Given the description of an element on the screen output the (x, y) to click on. 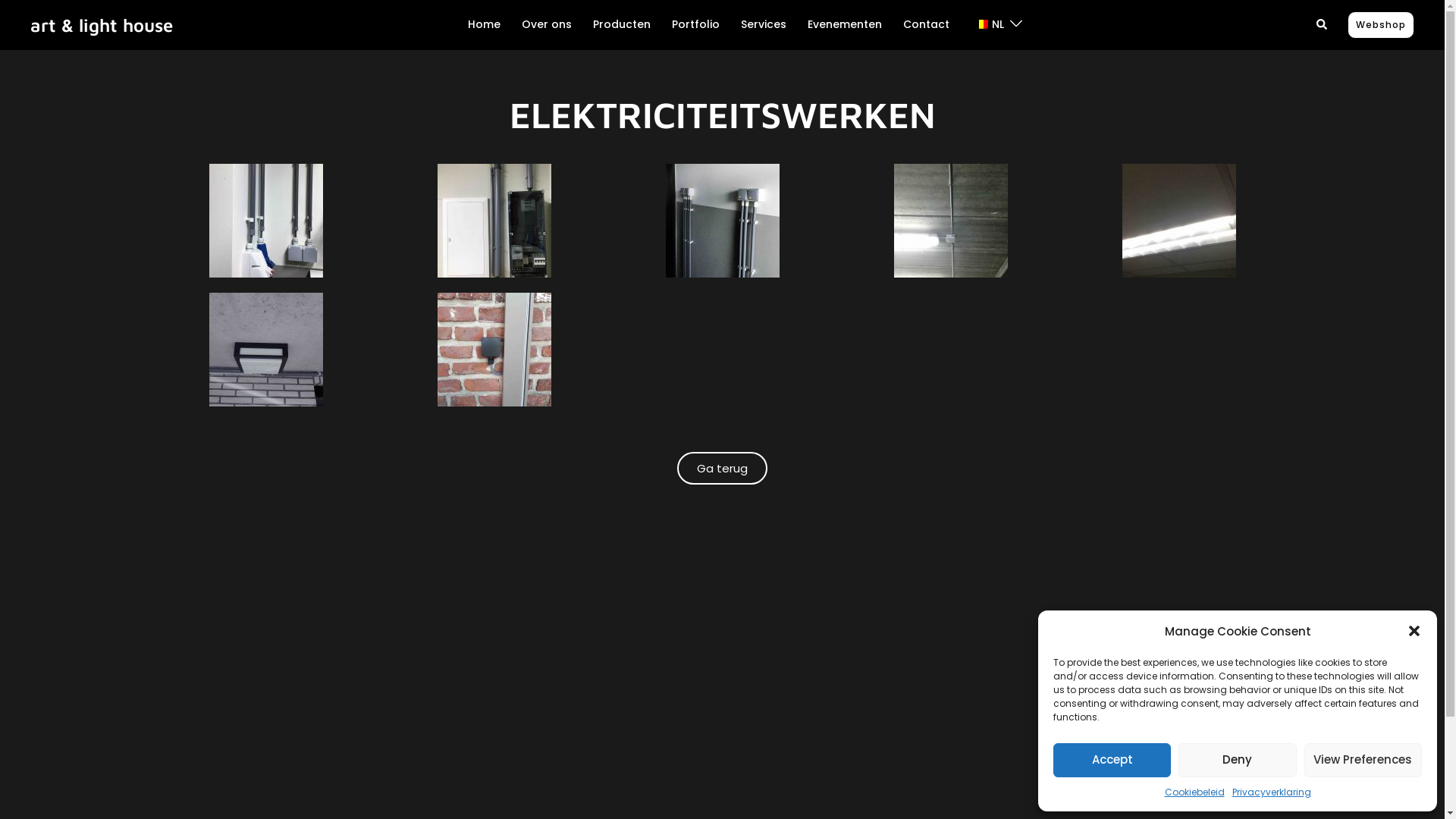
View Preferences Element type: text (1362, 760)
Privacyverklaring Element type: text (1270, 792)
Portfolio Element type: text (695, 24)
Contact Element type: text (925, 24)
Over ons Element type: text (546, 24)
Webshop Element type: text (1380, 24)
Cookiebeleid Element type: text (1194, 792)
Deny Element type: text (1236, 760)
Evenementen Element type: text (843, 24)
art & light house Element type: text (101, 24)
Services Element type: text (762, 24)
NL Element type: text (987, 24)
Ga terug Element type: text (722, 467)
Home Element type: text (483, 24)
Dutch Element type: hover (980, 23)
Producten Element type: text (621, 24)
Accept Element type: text (1111, 760)
